Given the description of an element on the screen output the (x, y) to click on. 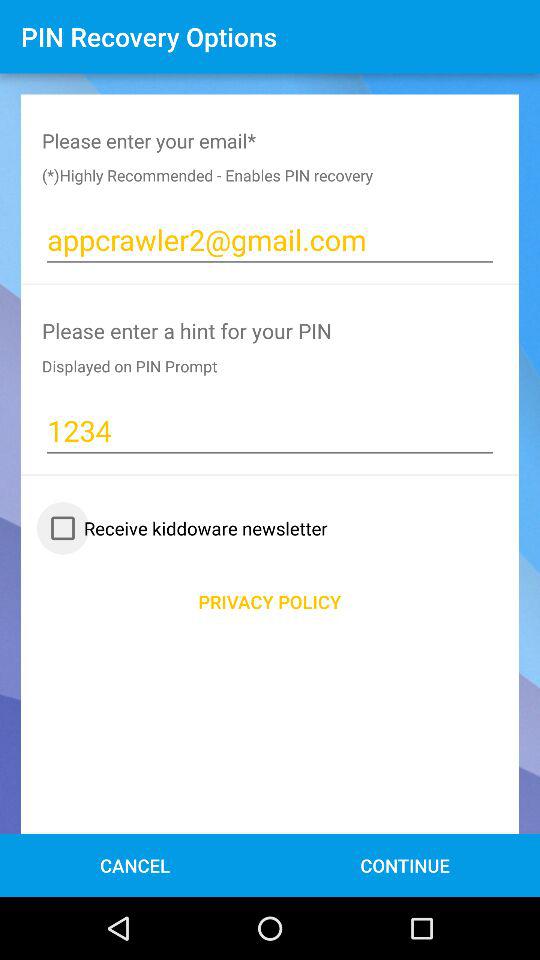
scroll to privacy policy item (269, 601)
